Given the description of an element on the screen output the (x, y) to click on. 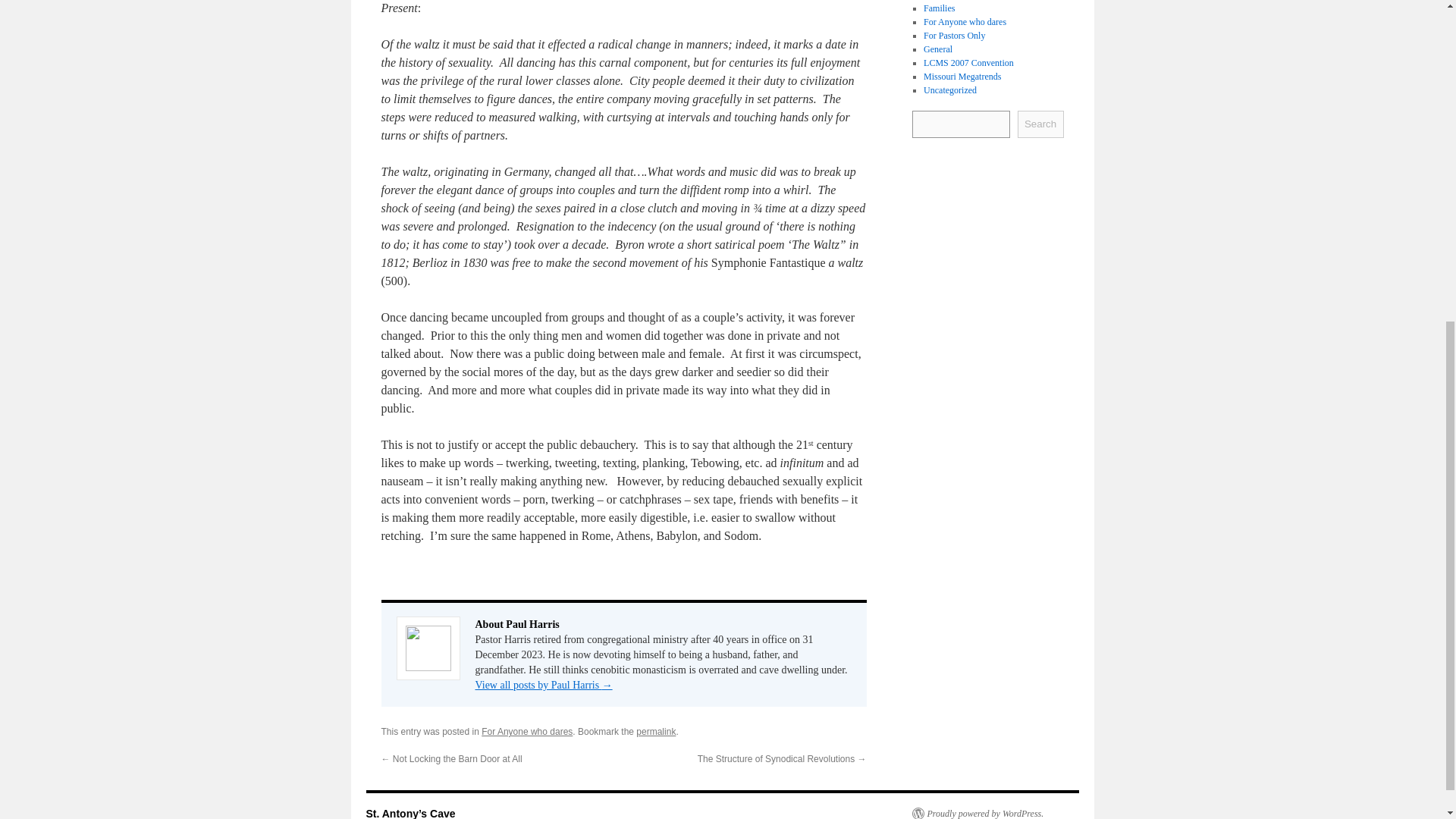
Search (1040, 123)
Families (939, 7)
For Anyone who dares (964, 20)
LCMS 2007 Convention (968, 61)
For Pastors Only (954, 34)
Permalink to Twerking (655, 731)
Uncategorized (949, 89)
permalink (655, 731)
For Anyone who dares (526, 731)
General (937, 48)
Missouri Megatrends (962, 75)
